Given the description of an element on the screen output the (x, y) to click on. 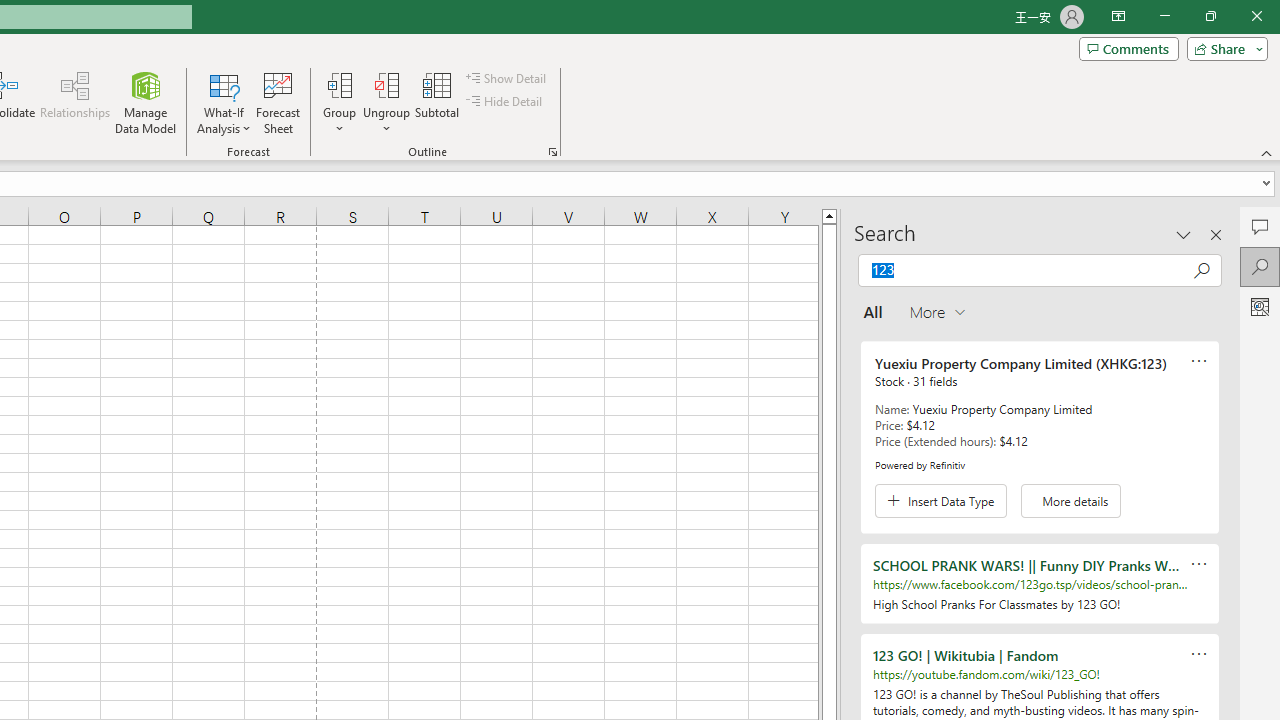
Close pane (1215, 234)
Hide Detail (505, 101)
Subtotal (437, 102)
Collapse the Ribbon (1267, 152)
Task Pane Options (1183, 234)
Minimize (1164, 16)
Manage Data Model (145, 102)
Relationships (75, 102)
Analyze Data (1260, 306)
Comments (1128, 48)
Search (1260, 266)
Group... (339, 84)
Close (1256, 16)
Share (1223, 48)
Forecast Sheet (278, 102)
